Given the description of an element on the screen output the (x, y) to click on. 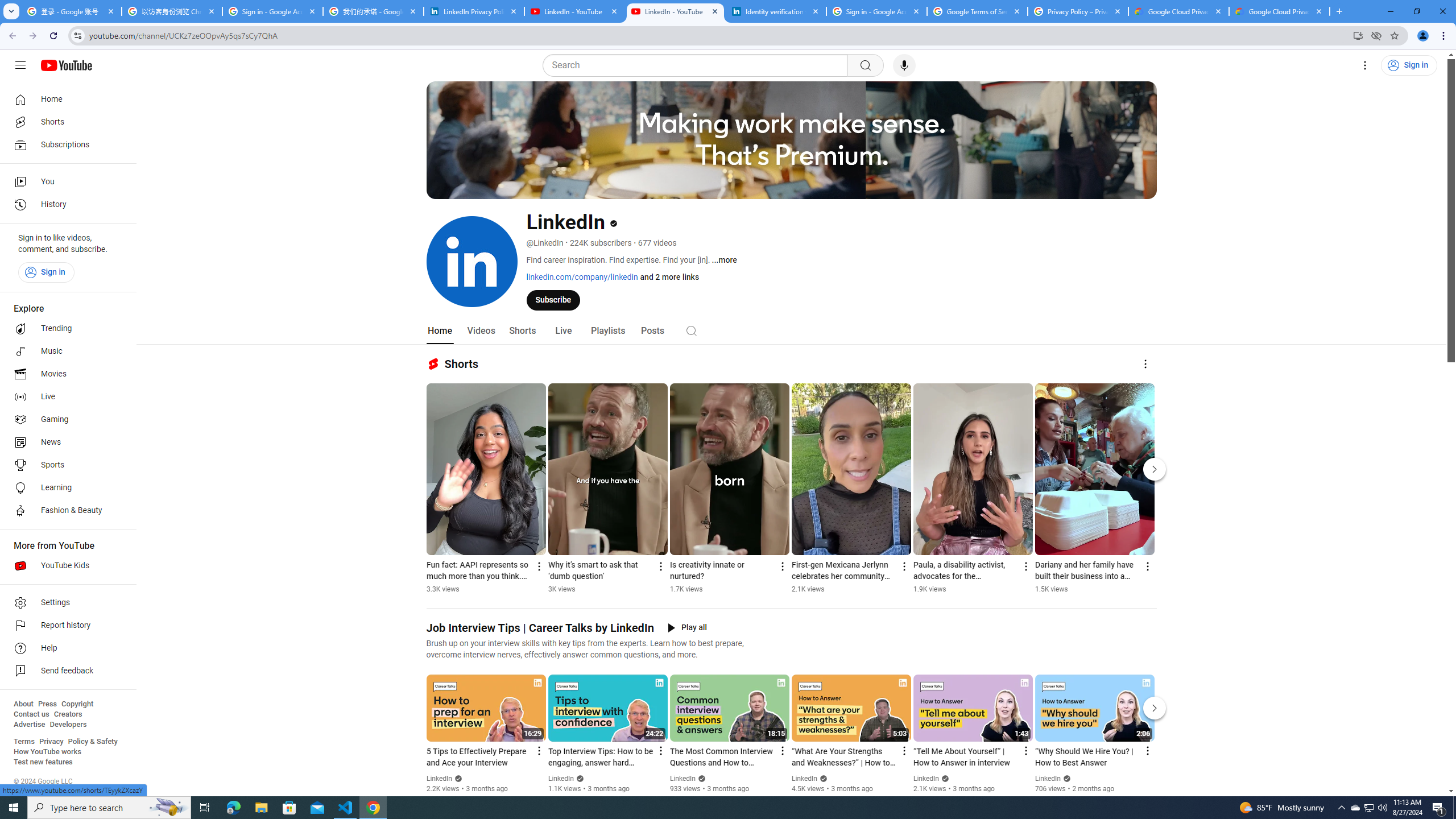
Videos (481, 330)
YouTube Kids (64, 565)
YouTube Home (66, 65)
Subscribe (552, 299)
Guide (20, 65)
Send feedback (64, 671)
Policy & Safety (91, 741)
Sign in - Google Accounts (876, 11)
Job Interview Tips | Career Talks by LinkedIn (539, 627)
Music (64, 350)
